Given the description of an element on the screen output the (x, y) to click on. 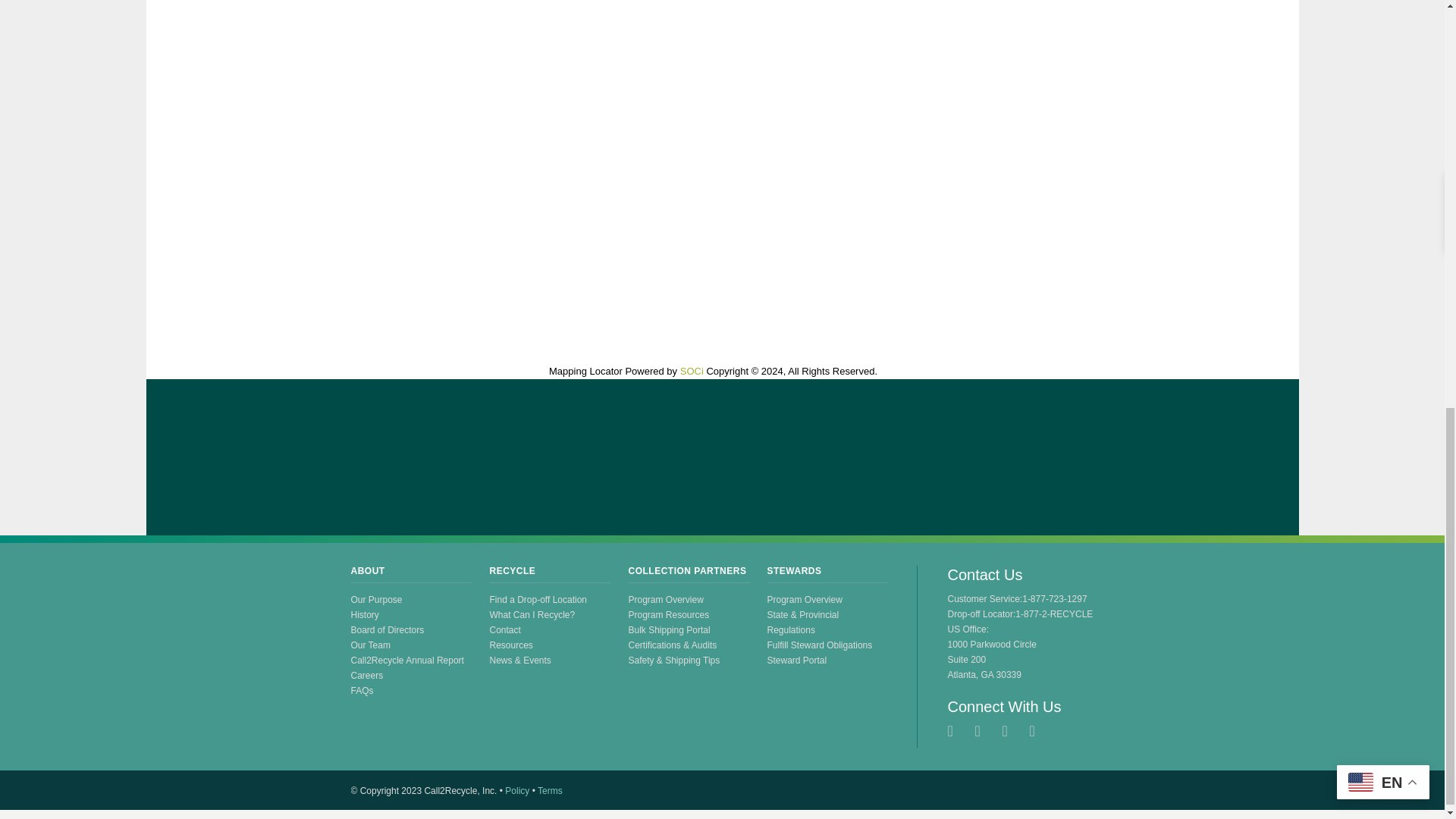
Linkedin (1038, 730)
Twitter (956, 730)
Facebook (983, 730)
YouTube (1011, 730)
